Given the description of an element on the screen output the (x, y) to click on. 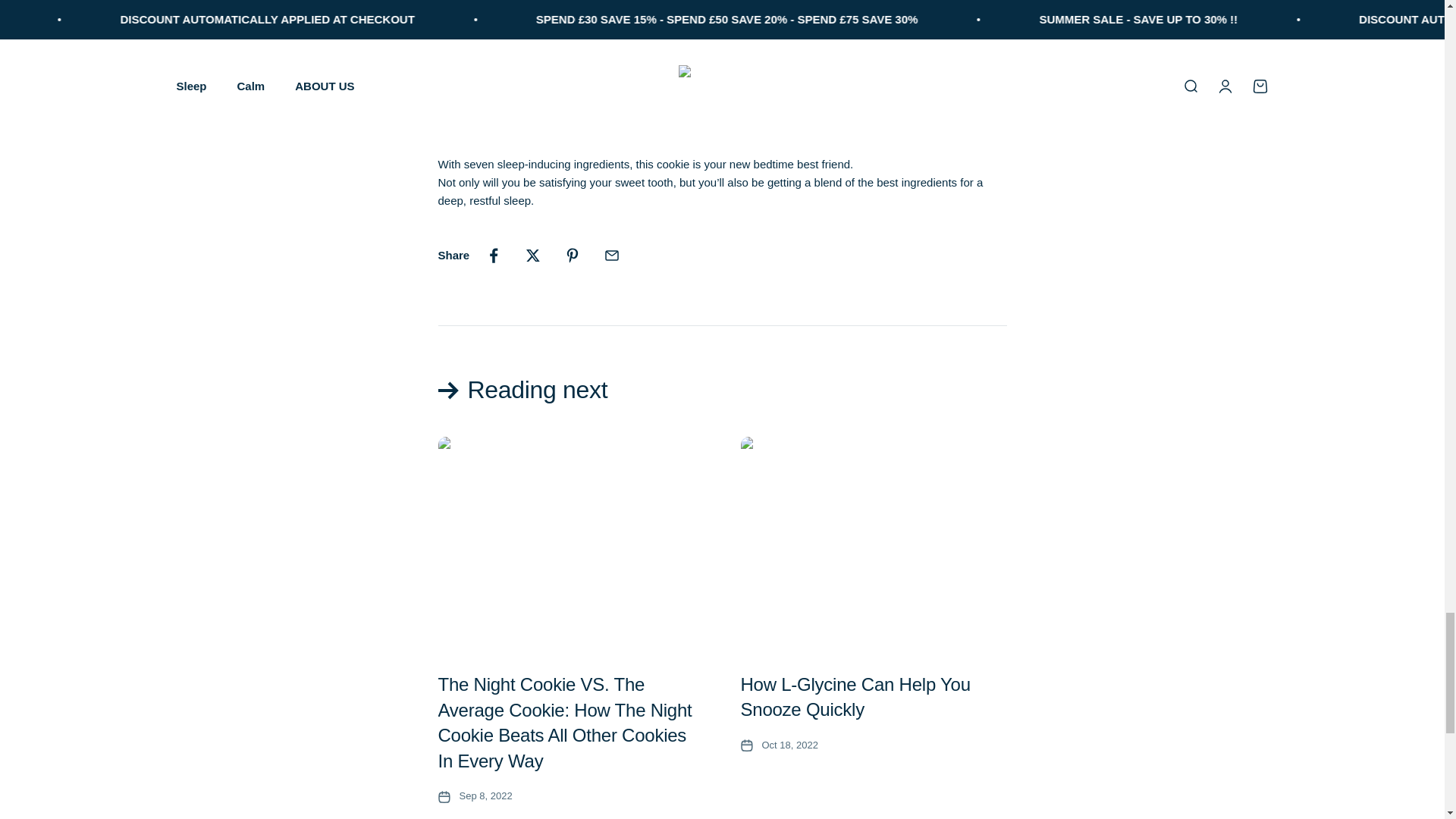
How L-Glycine Can Help You Snooze Quickly (854, 697)
